Given the description of an element on the screen output the (x, y) to click on. 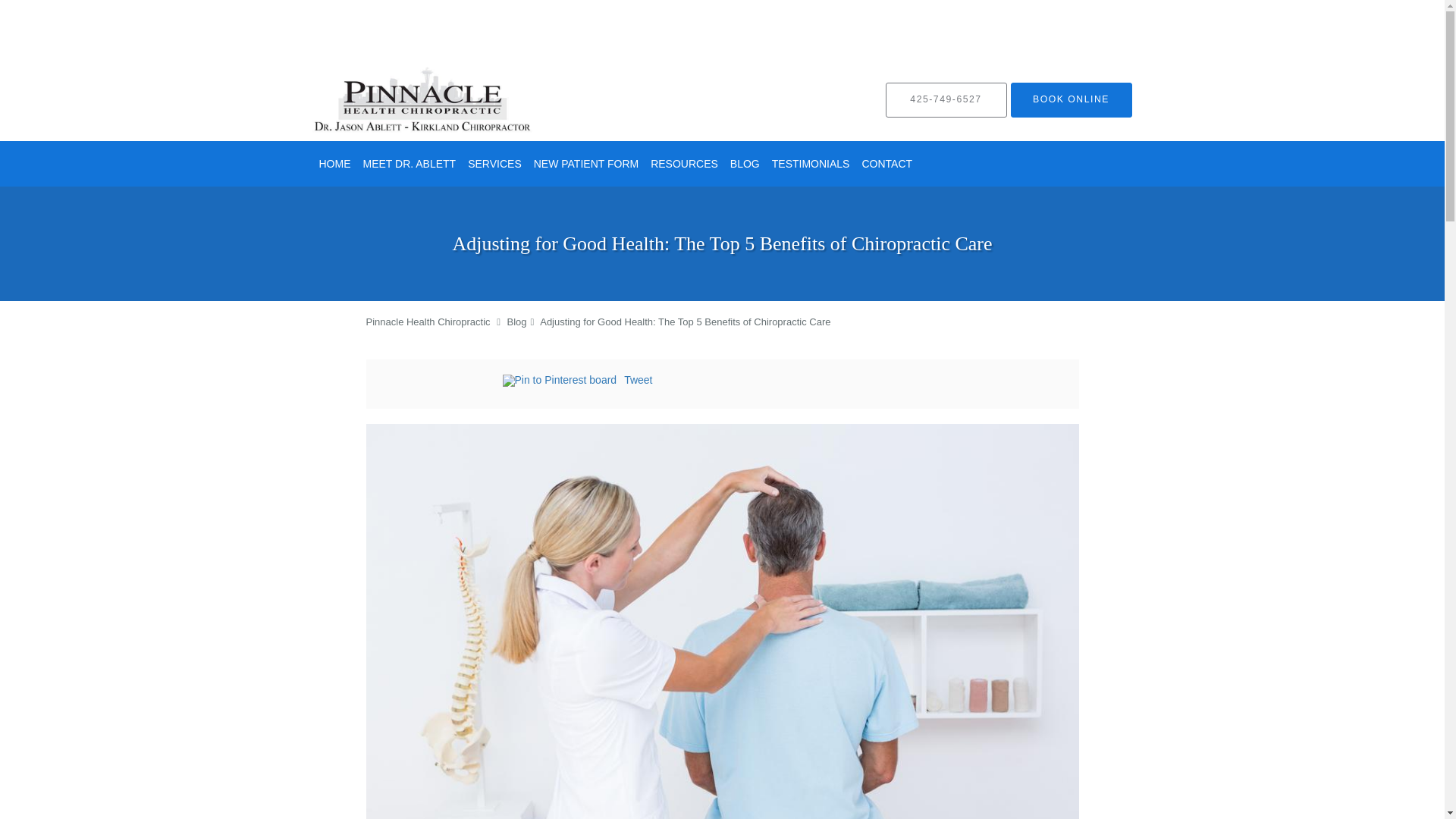
Tweet (638, 379)
BLOG (744, 163)
CONTACT (887, 163)
Blog (516, 321)
BOOK ONLINE (1070, 99)
425-749-6527 (946, 99)
Facebook social button (441, 382)
TESTIMONIALS (810, 163)
SERVICES (494, 163)
MEET DR. ABLETT (408, 163)
HOME (334, 163)
RESOURCES (684, 163)
NEW PATIENT FORM (586, 163)
Pinnacle Health Chiropractic (427, 321)
